Given the description of an element on the screen output the (x, y) to click on. 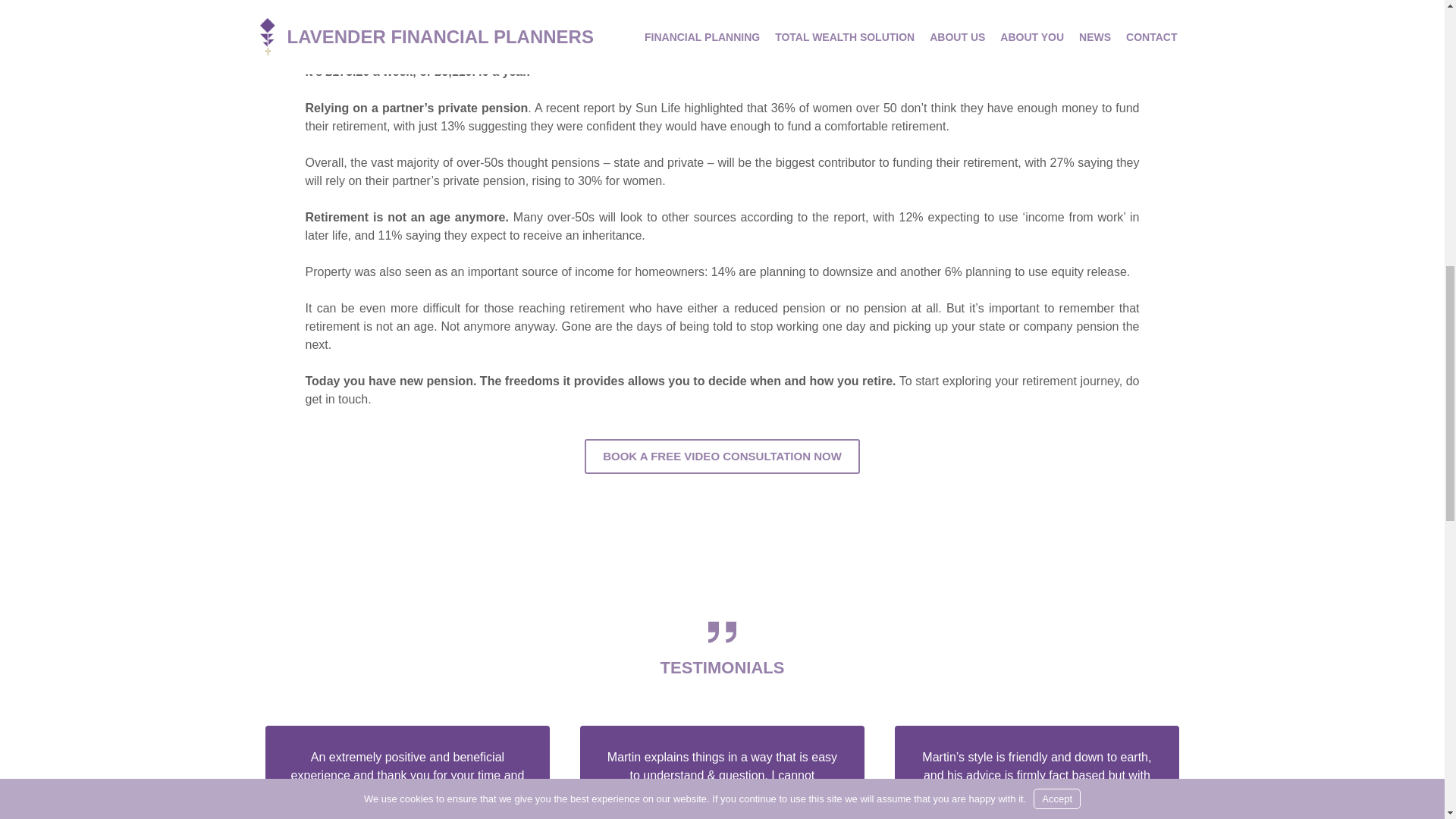
BOOK A FREE VIDEO CONSULTATION NOW (722, 456)
